Given the description of an element on the screen output the (x, y) to click on. 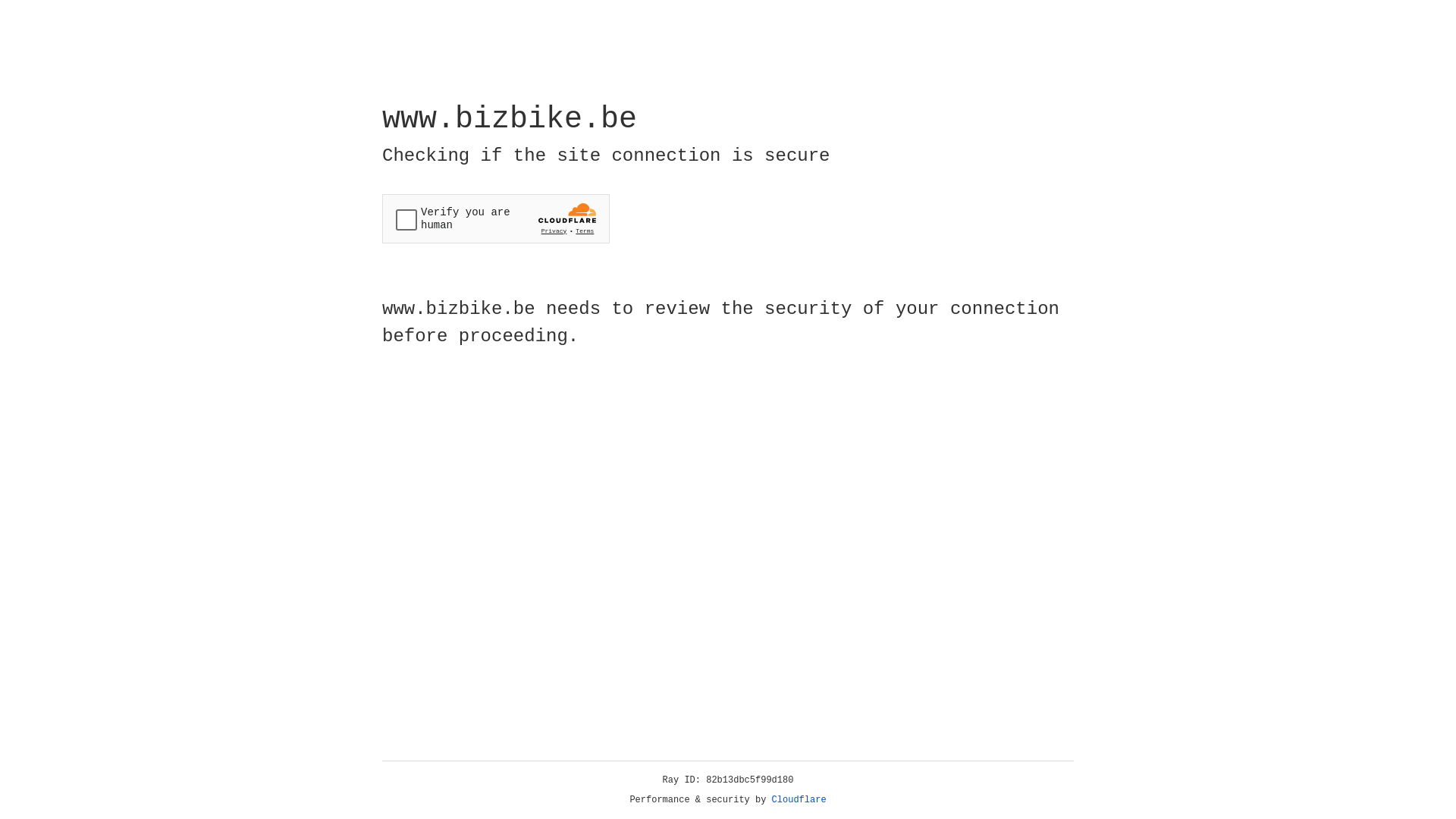
Cloudflare Element type: text (798, 799)
Widget containing a Cloudflare security challenge Element type: hover (495, 218)
